Given the description of an element on the screen output the (x, y) to click on. 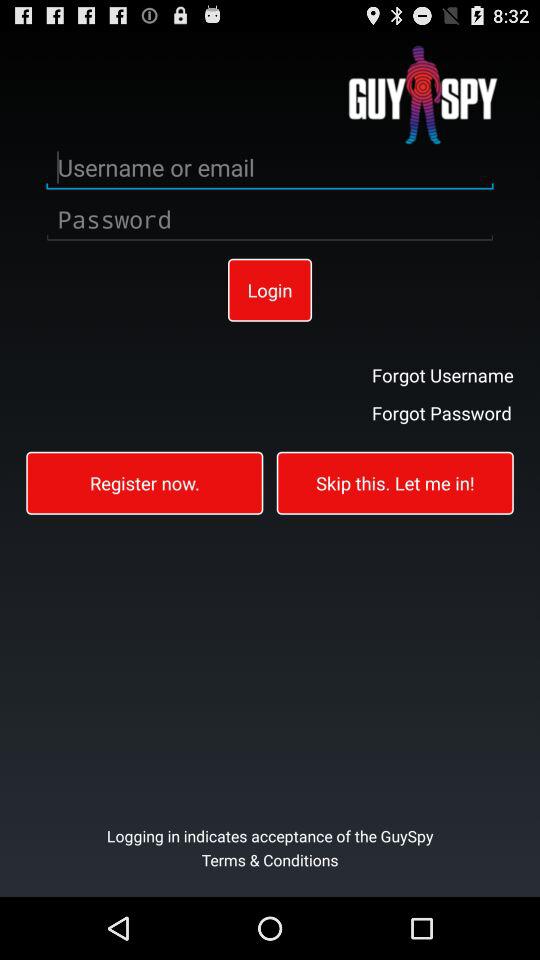
flip until terms & conditions app (269, 872)
